Given the description of an element on the screen output the (x, y) to click on. 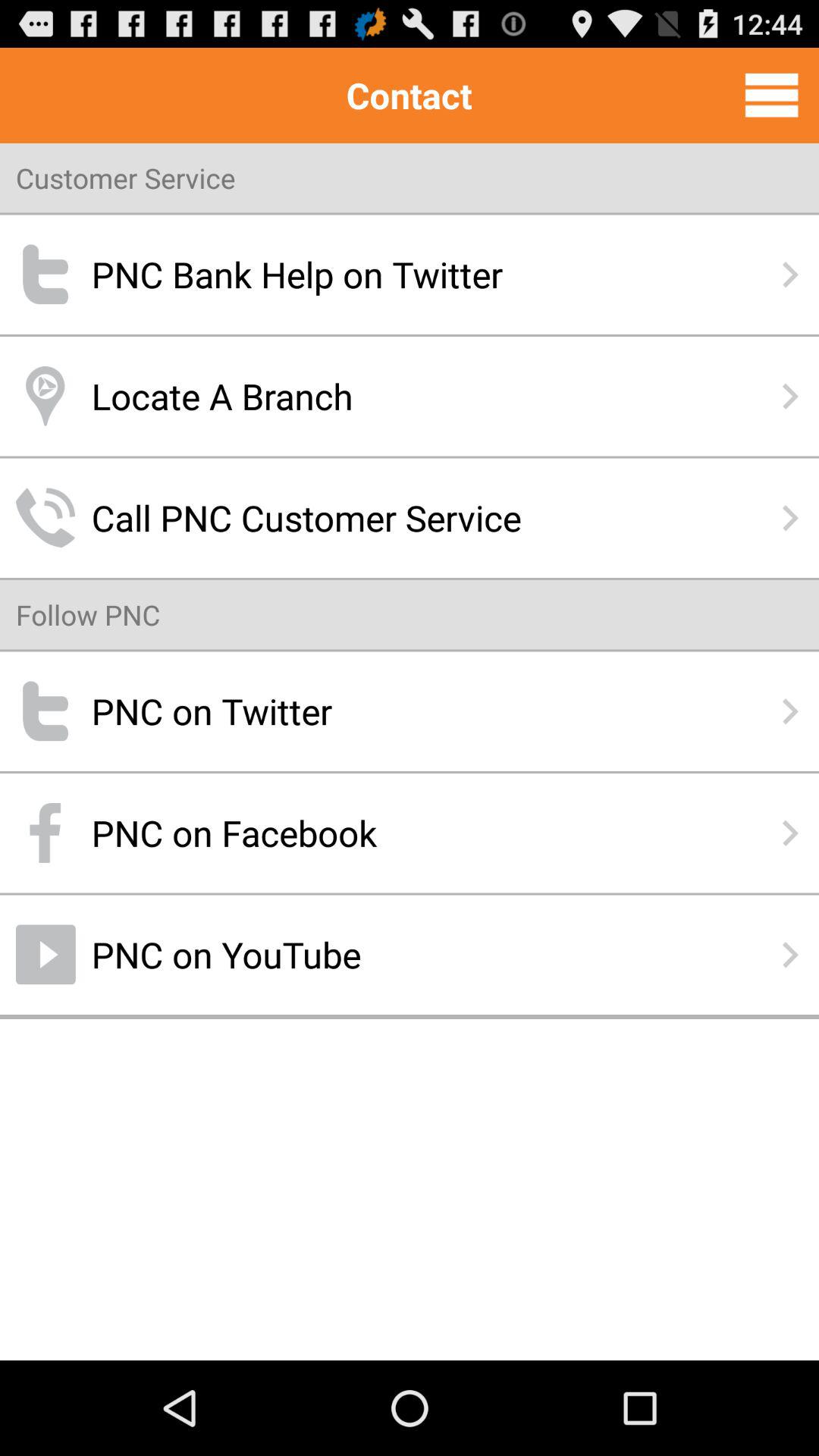
choose locate a branch item (409, 396)
